Given the description of an element on the screen output the (x, y) to click on. 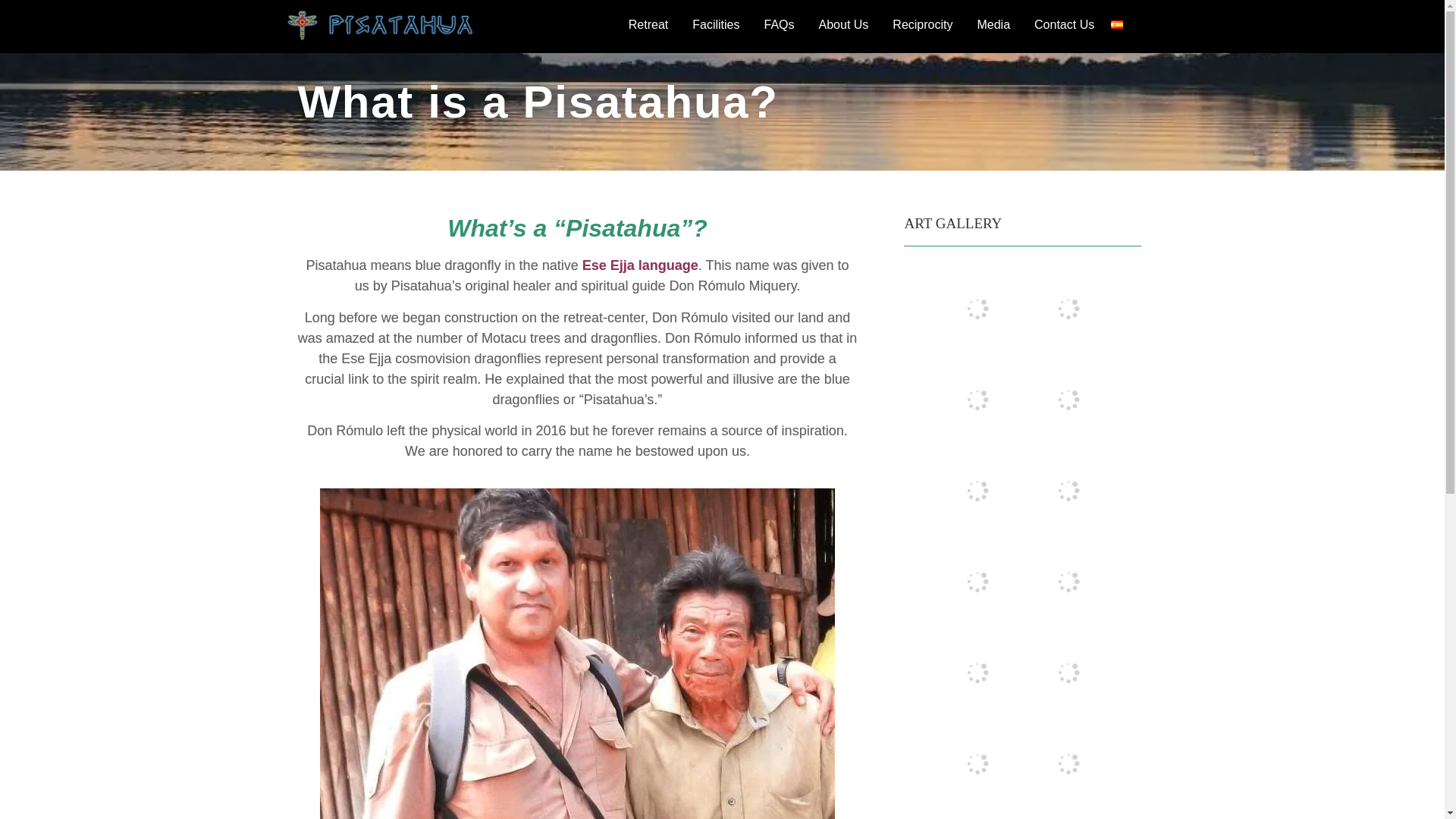
Anderson Debernardi-cosmico (1067, 672)
Luis-Tamani-Amasifuen-jungle-art (976, 814)
Reciprocity (925, 24)
About Us (847, 24)
Paolo-Del-Aguila-Sajami-artist (1067, 308)
FAQs (782, 23)
Paolo-Del-Aguila-Sajami-art-ayahuasca (976, 490)
Felix-Pinchi Aguirre-ayahuasca-artist (1067, 490)
Facilities (719, 13)
Pablo-Amaringo-1 (1067, 763)
Contact Us (1064, 24)
Media (997, 24)
Pablo-Amaringo-8 (1067, 399)
Mariela-de-La-Paz-ayahuasca-art (976, 308)
Anderson Debernardi-ayahuasca-art-residency (976, 581)
